Given the description of an element on the screen output the (x, y) to click on. 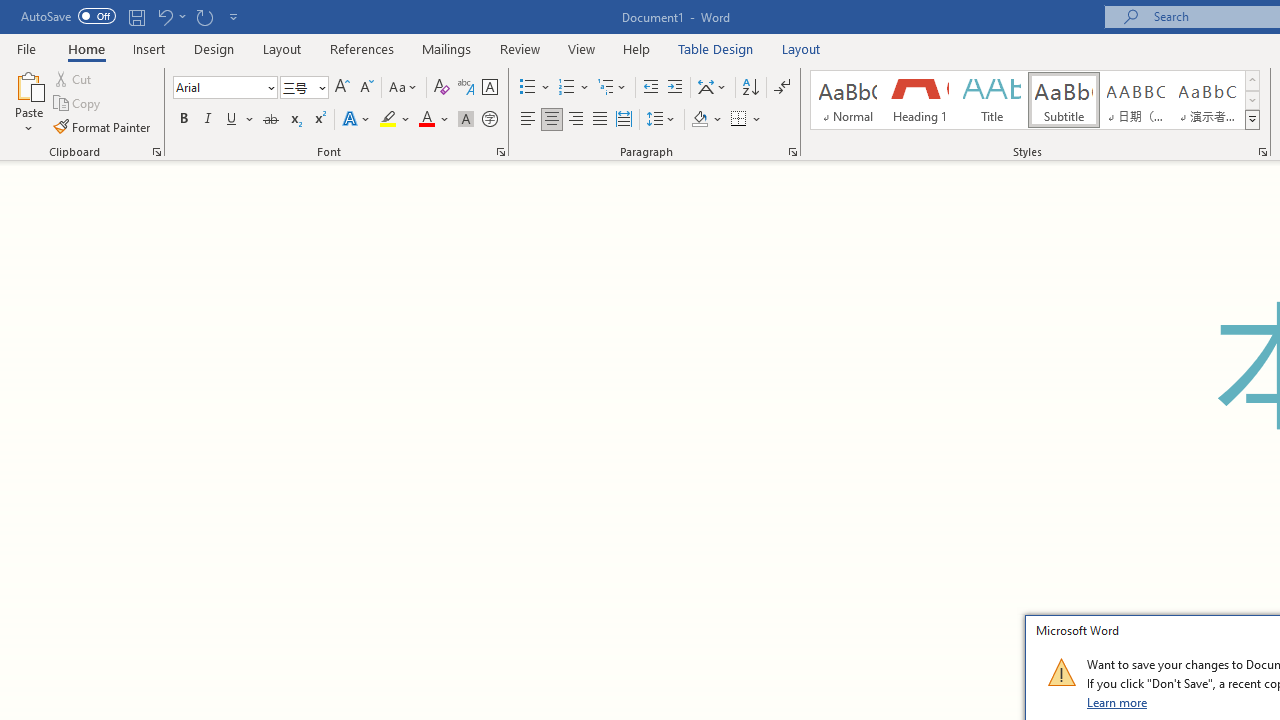
Repeat Doc Close (204, 15)
Undo Paste (170, 15)
Heading 1 (920, 100)
